Given the description of an element on the screen output the (x, y) to click on. 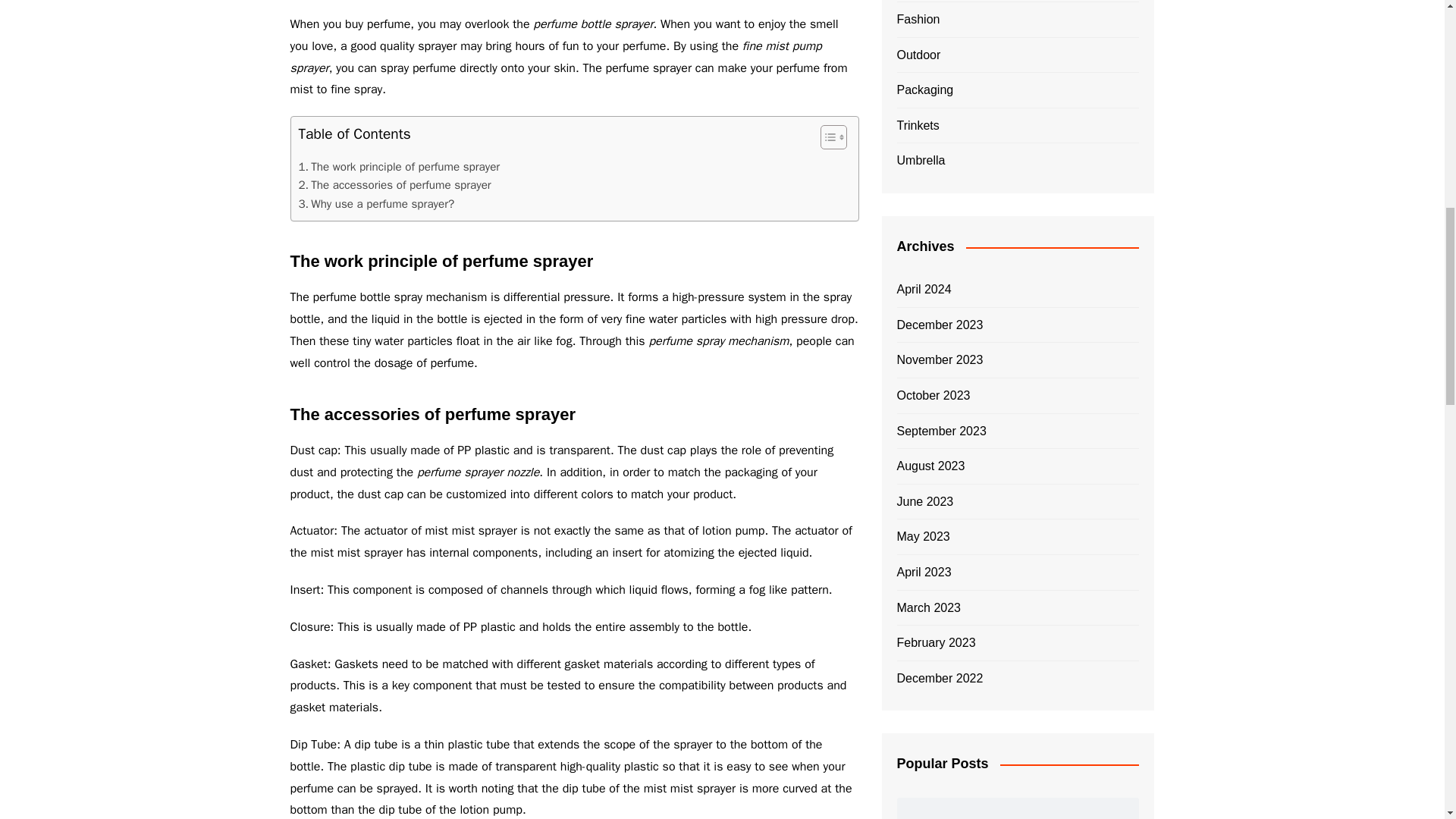
The work principle of perfume sprayer (399, 167)
The work principle of perfume sprayer (399, 167)
The accessories of perfume sprayer (395, 185)
The accessories of perfume sprayer (395, 185)
Why use a perfume sprayer? (376, 203)
